Given the description of an element on the screen output the (x, y) to click on. 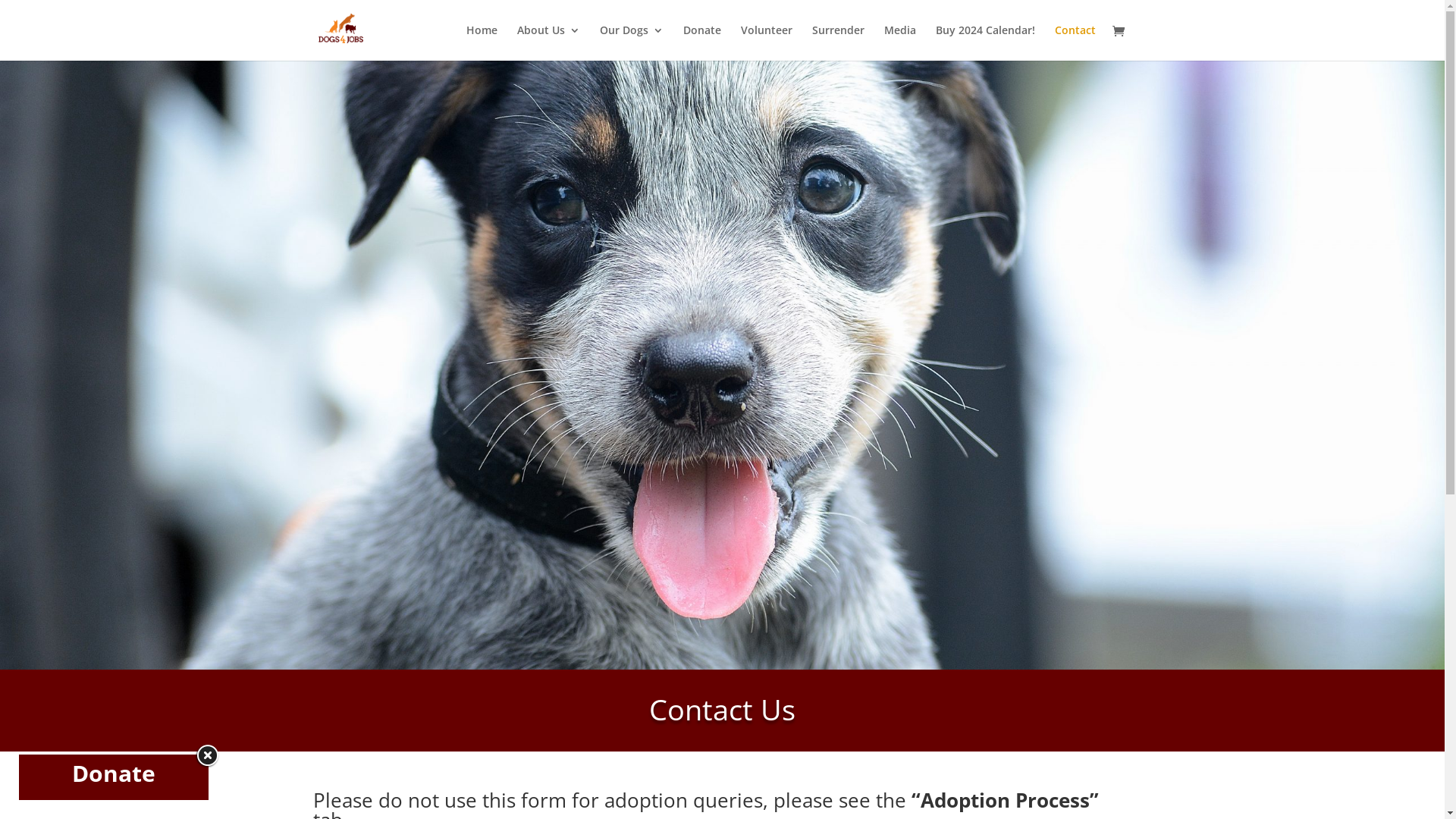
Media Element type: text (900, 42)
Volunteer Element type: text (765, 42)
About Us Element type: text (548, 42)
Contact Element type: text (1074, 42)
Buy 2024 Calendar! Element type: text (985, 42)
Donate Element type: text (701, 42)
Surrender Element type: text (837, 42)
Home Element type: text (480, 42)
Donate Element type: text (113, 772)
Our Dogs Element type: text (630, 42)
